Given the description of an element on the screen output the (x, y) to click on. 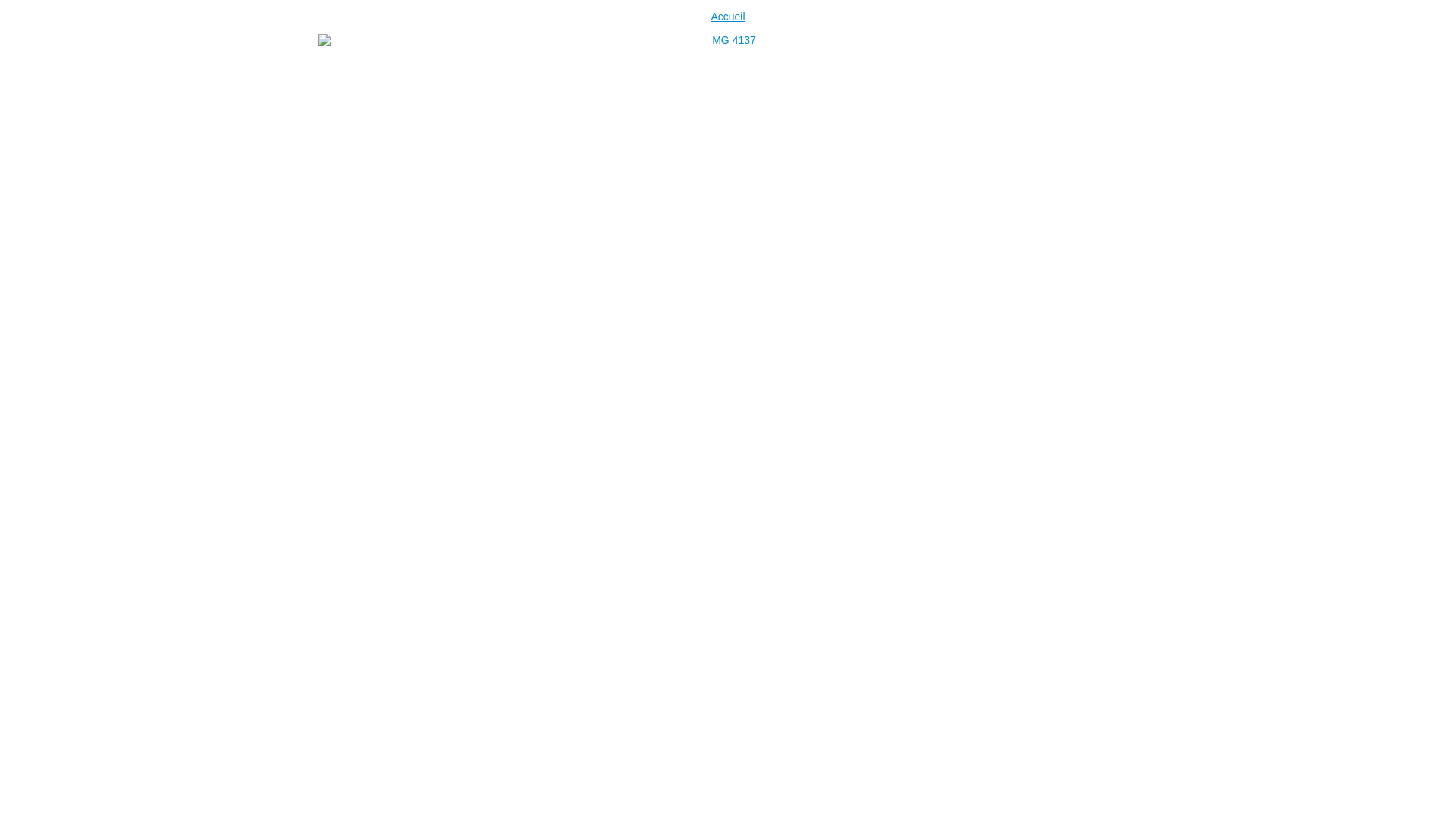
 MG 4137 Element type: hover (727, 307)
